Given the description of an element on the screen output the (x, y) to click on. 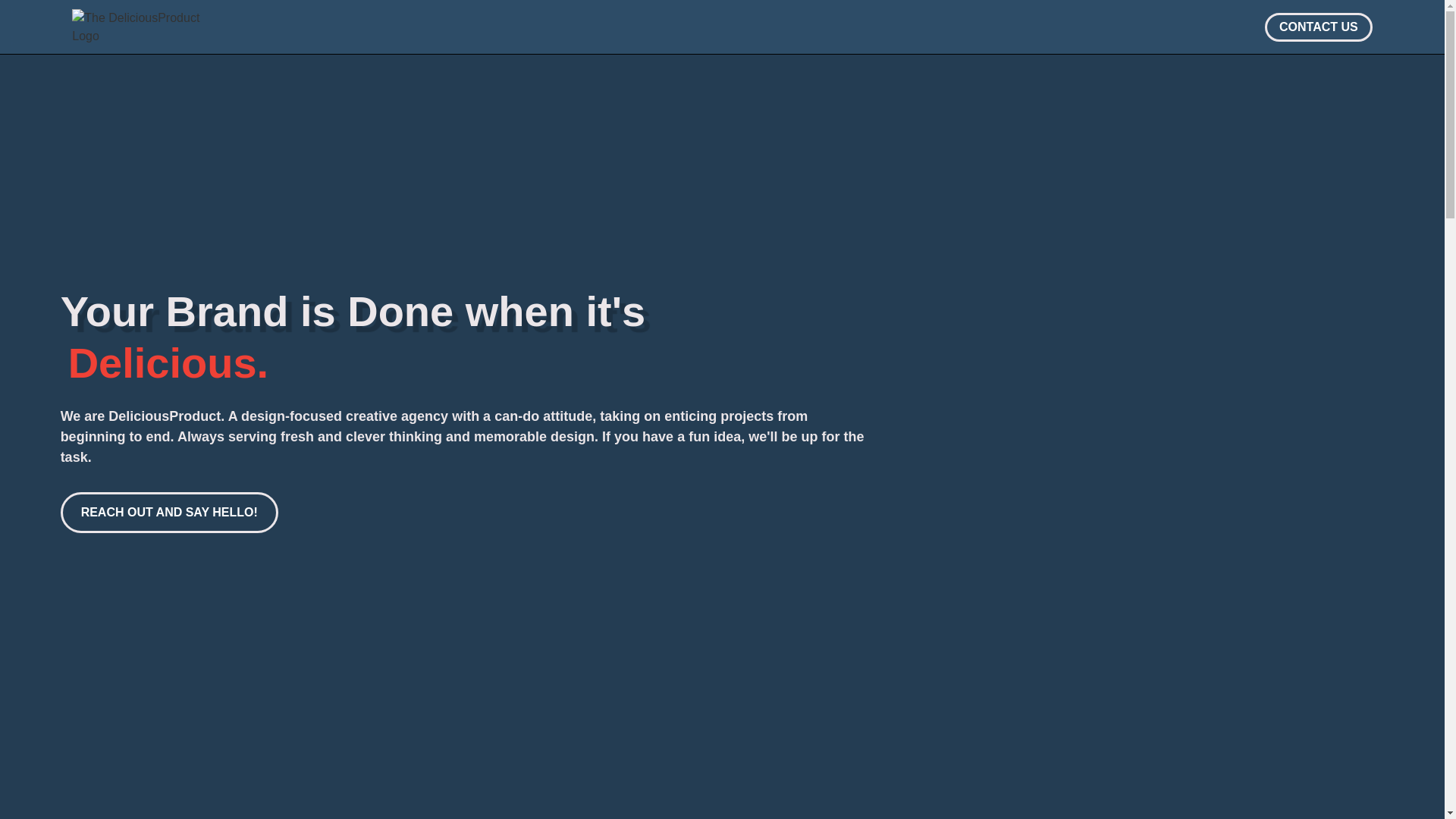
CONTACT US (1319, 26)
REACH OUT AND SAY HELLO! (169, 512)
